Given the description of an element on the screen output the (x, y) to click on. 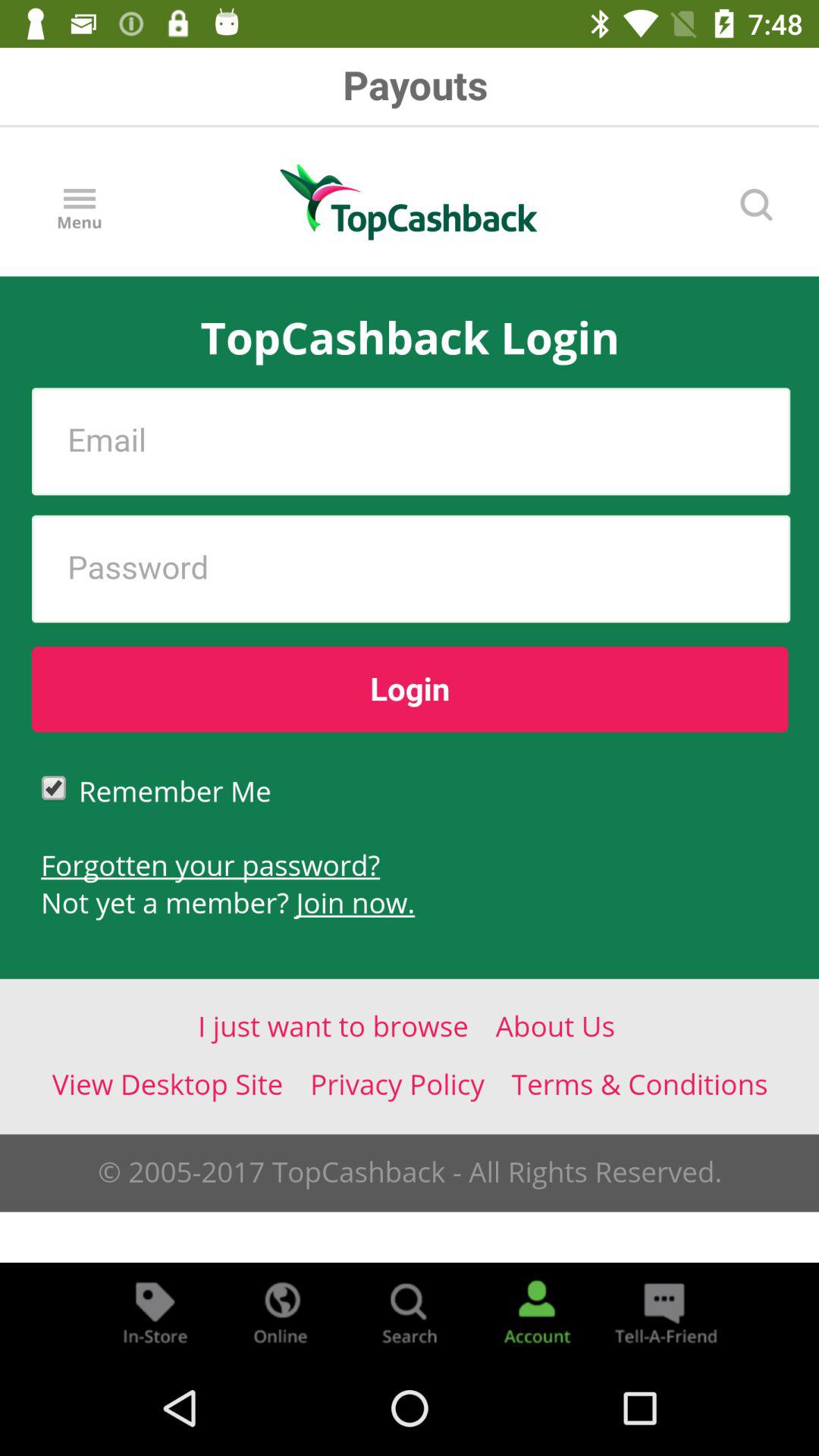
account (536, 1311)
